Given the description of an element on the screen output the (x, y) to click on. 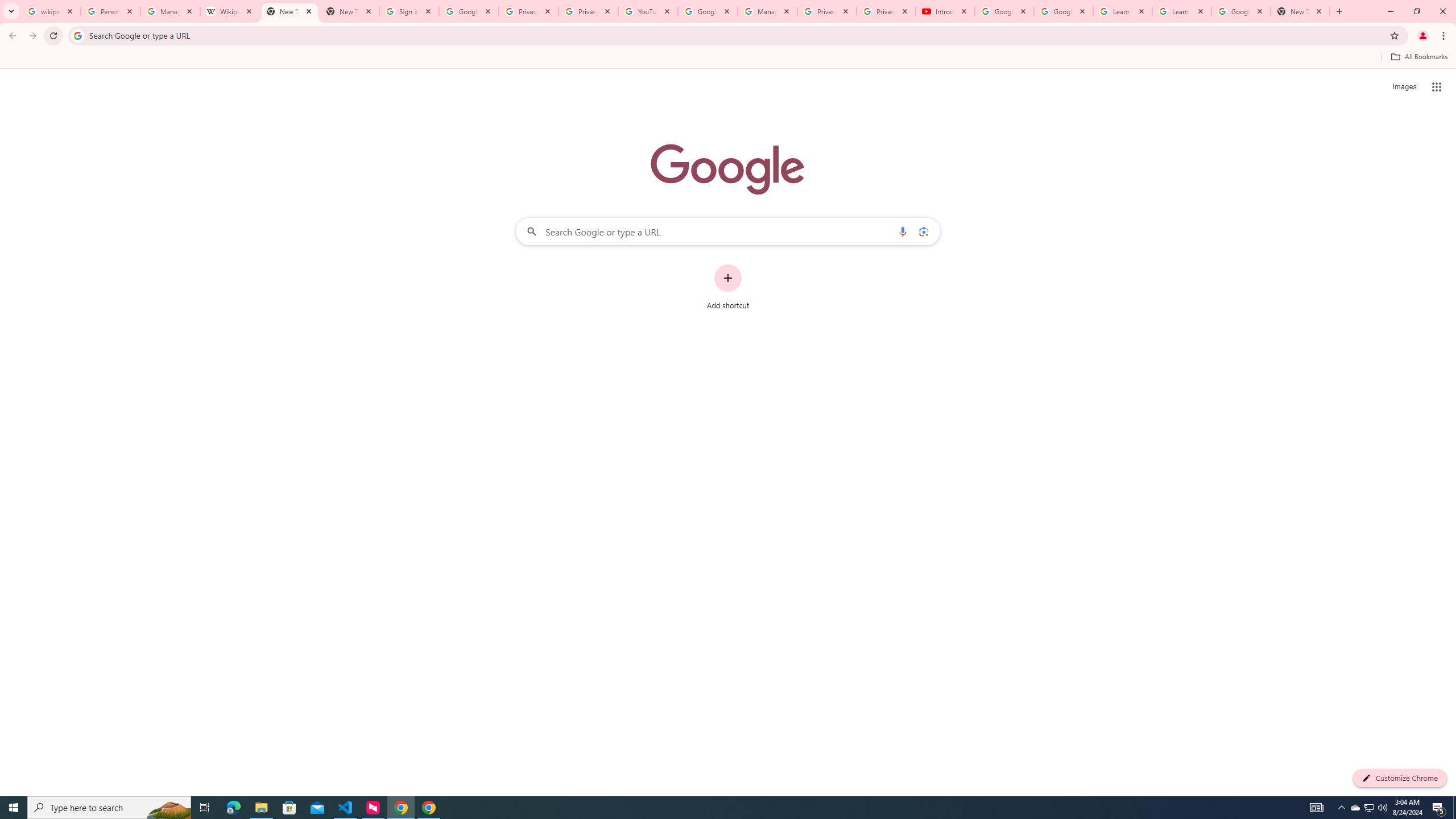
Sign in - Google Accounts (409, 11)
Google Account Help (707, 11)
New Tab (349, 11)
Personalization & Google Search results - Google Search Help (110, 11)
